Given the description of an element on the screen output the (x, y) to click on. 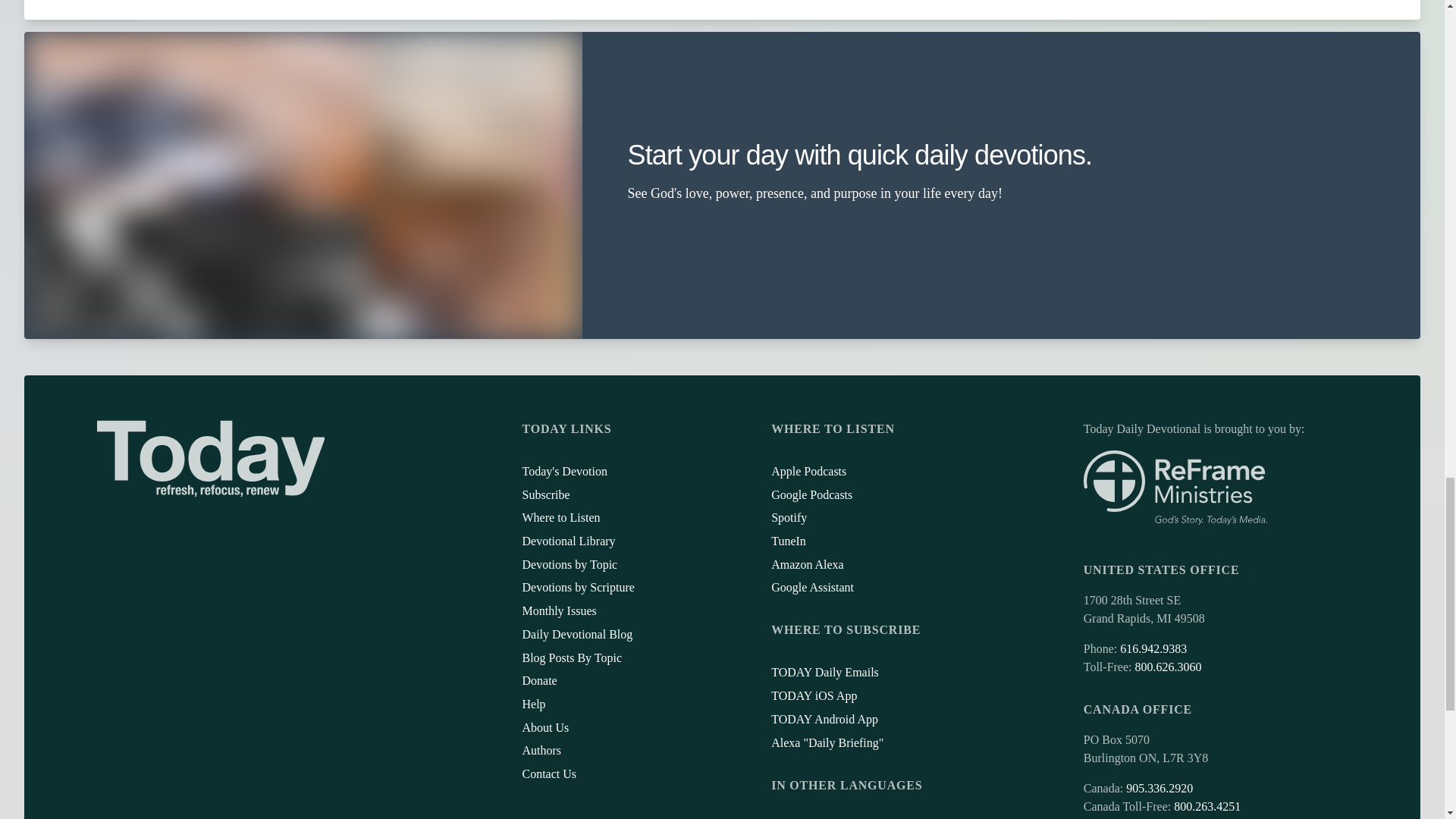
Daily Devotional Blog (576, 634)
Monthly Issues (558, 610)
Help (532, 703)
ReFrame Ministries: God's story. Today's media. (1174, 487)
Devotions by Topic (569, 563)
Today Daily Devotional (210, 458)
Subscribe (545, 494)
Blog Posts By Topic (571, 657)
Devotions by Scripture (577, 586)
Donate (538, 680)
Where to Listen (560, 517)
Devotional Library (567, 540)
Today's Devotion (564, 471)
